Given the description of an element on the screen output the (x, y) to click on. 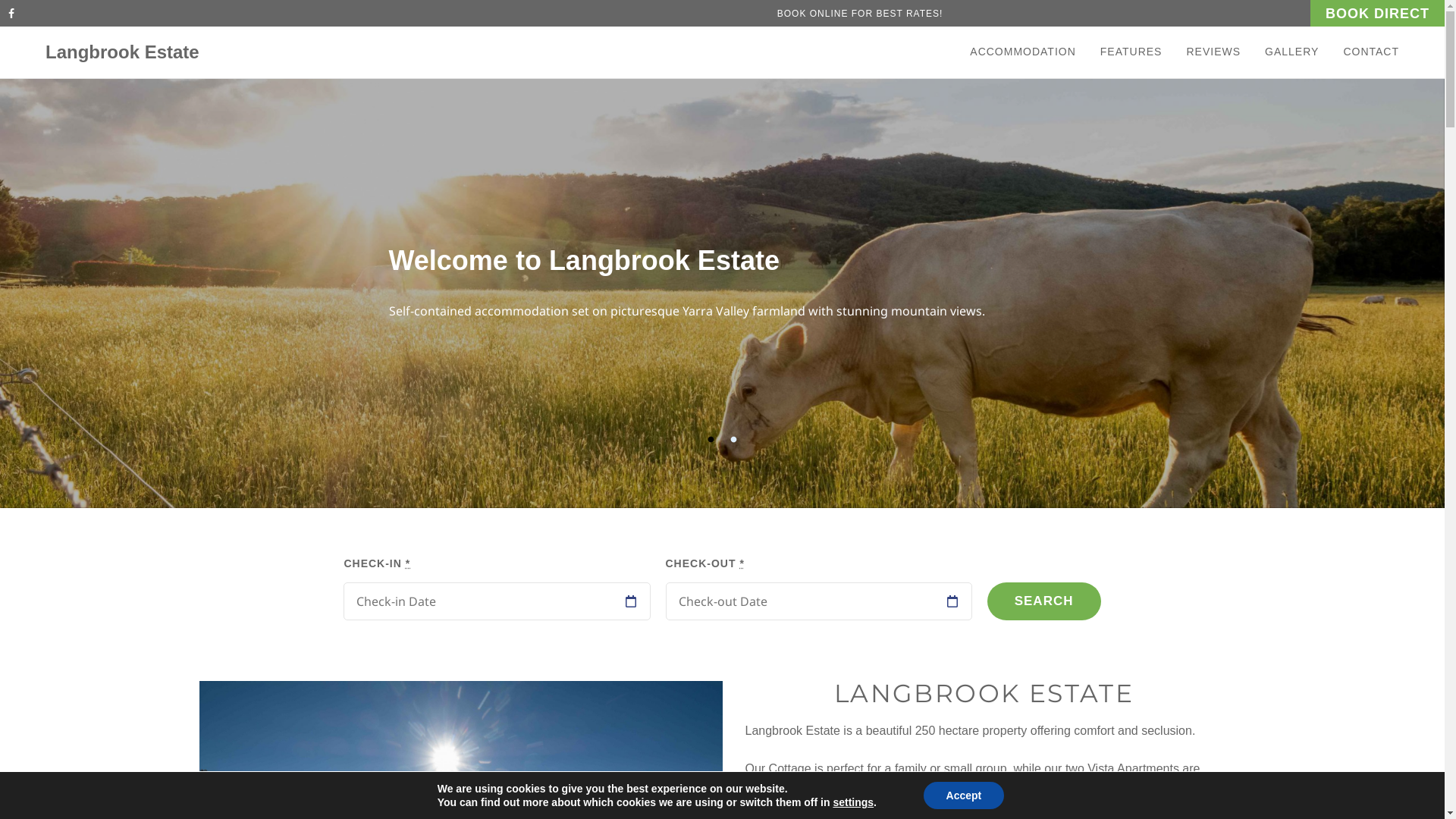
Search Element type: text (1044, 601)
Langbrook Estate Element type: text (122, 51)
2 Element type: text (733, 439)
BOOK DIRECT Element type: text (1377, 13)
FACEBOOK Element type: text (15, 13)
CONTACT Element type: text (1364, 52)
BOOK ONLINE FOR BEST RATES! Element type: text (860, 13)
FEATURES Element type: text (1131, 52)
1 Element type: text (710, 439)
ACCOMMODATION Element type: text (1028, 52)
Accept Element type: text (963, 795)
REVIEWS Element type: text (1212, 52)
GALLERY Element type: text (1291, 52)
